Given the description of an element on the screen output the (x, y) to click on. 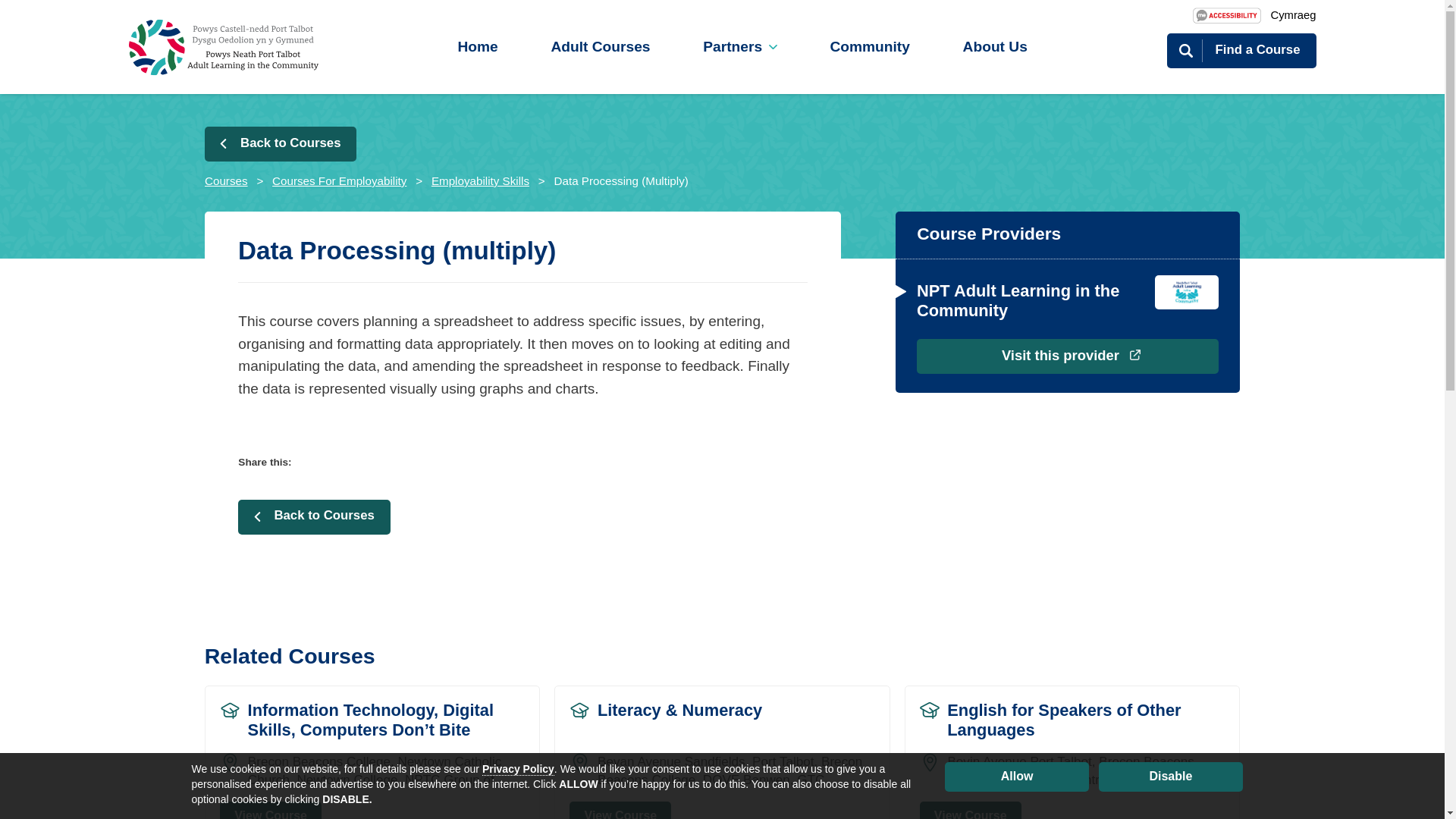
About Us (994, 46)
Cymraeg (1292, 15)
Home page (223, 46)
Community (869, 46)
Find a Course (1241, 50)
Partners (739, 46)
Home (477, 46)
Adult Courses (600, 46)
